Given the description of an element on the screen output the (x, y) to click on. 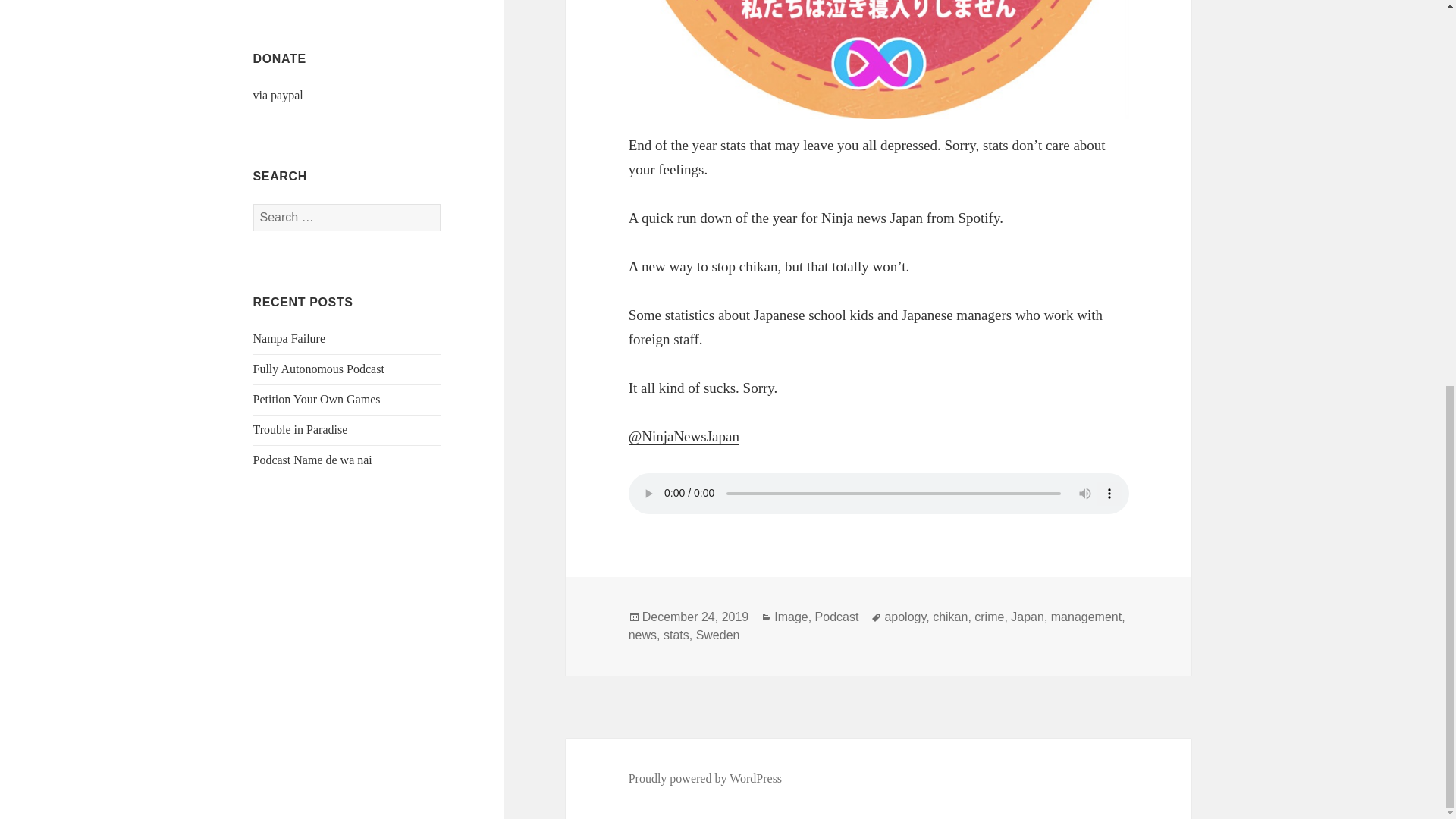
Image (791, 617)
Trouble in Paradise (300, 429)
December 24, 2019 (695, 617)
Japan (1026, 617)
management (1086, 617)
crime (989, 617)
Fully Autonomous Podcast (318, 368)
apology (904, 617)
news (642, 635)
Nampa Failure (289, 338)
Petition Your Own Games (316, 399)
stats (675, 635)
